Given the description of an element on the screen output the (x, y) to click on. 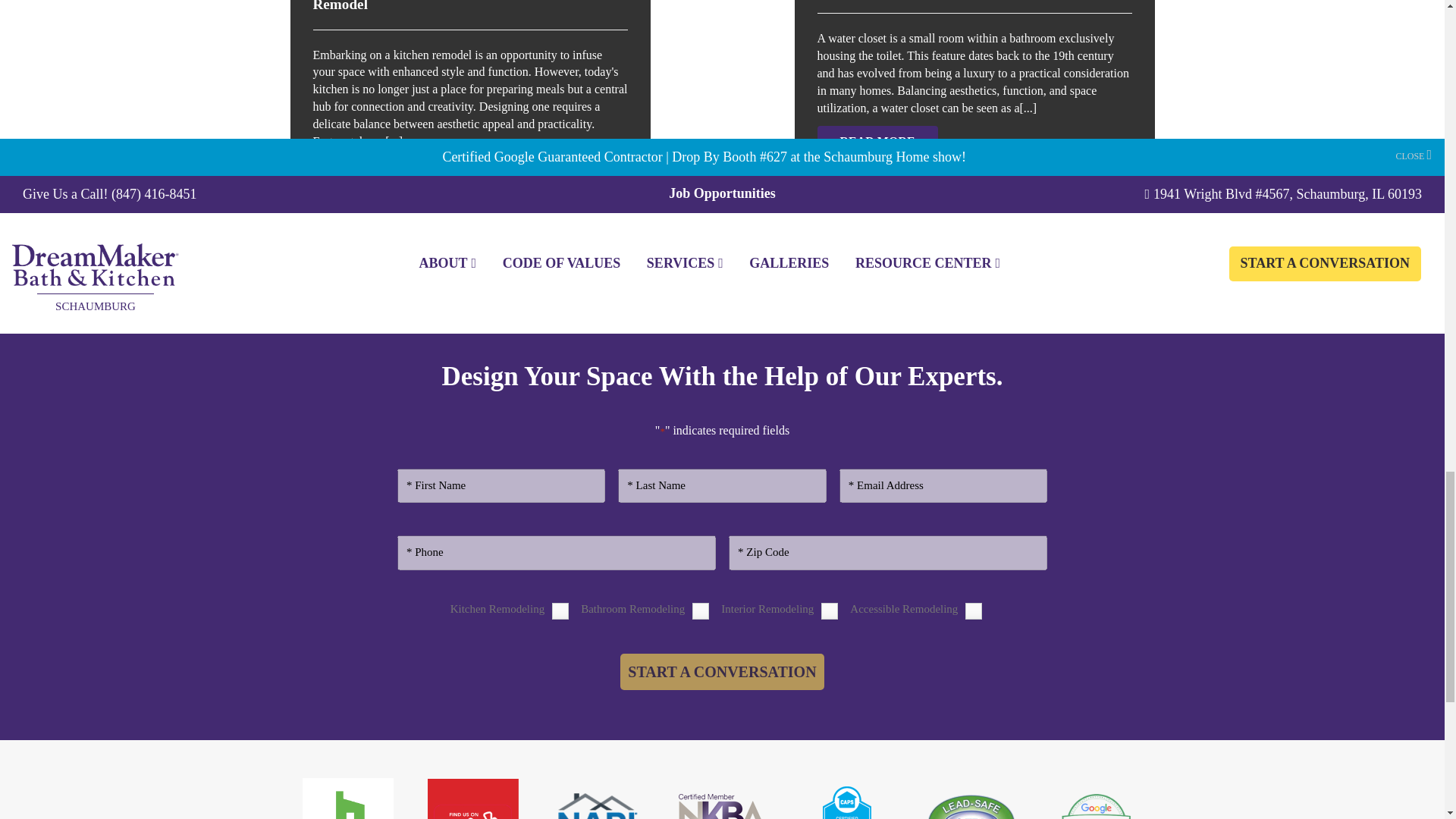
Certified Aging-In-Place Specialist (847, 802)
Yelp (473, 798)
Start A Conversation (722, 672)
Google Guaranteed Contractor (1096, 805)
READ MORE (372, 174)
Bathroom Remodeling (701, 610)
Houzz (347, 798)
Lead Safe Certified Firm (971, 802)
National Association of The Remodeling Industry (597, 802)
Accessible Remodeling (973, 610)
Kitchen Remodeling (560, 610)
Interior Remodeling (829, 610)
